Given the description of an element on the screen output the (x, y) to click on. 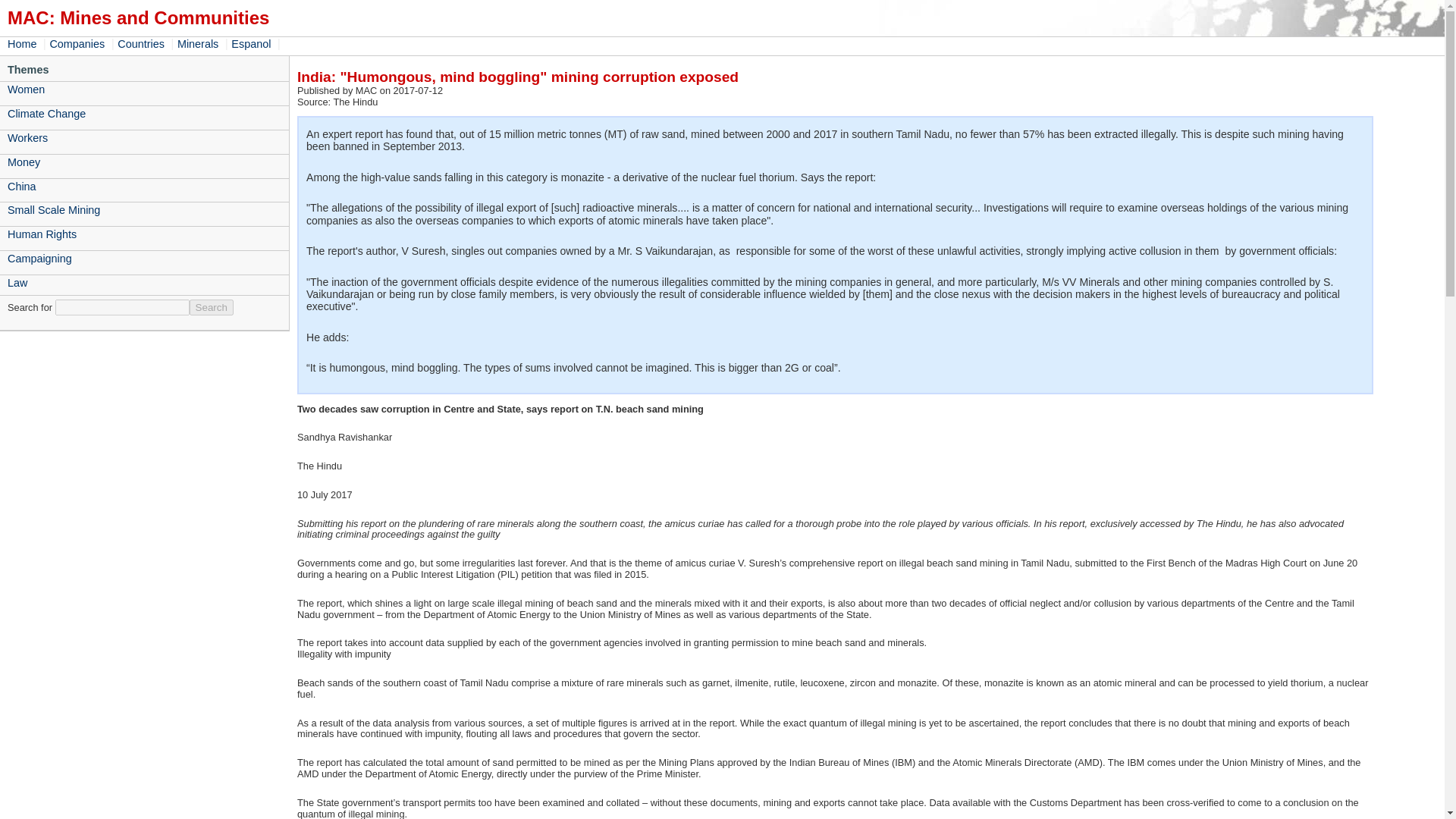
Companies (78, 43)
Climate Change (144, 113)
Law (144, 282)
Countries (142, 43)
Minerals (199, 43)
Money (144, 161)
Search (210, 307)
China (144, 186)
Espanol (252, 43)
Home (23, 43)
